Given the description of an element on the screen output the (x, y) to click on. 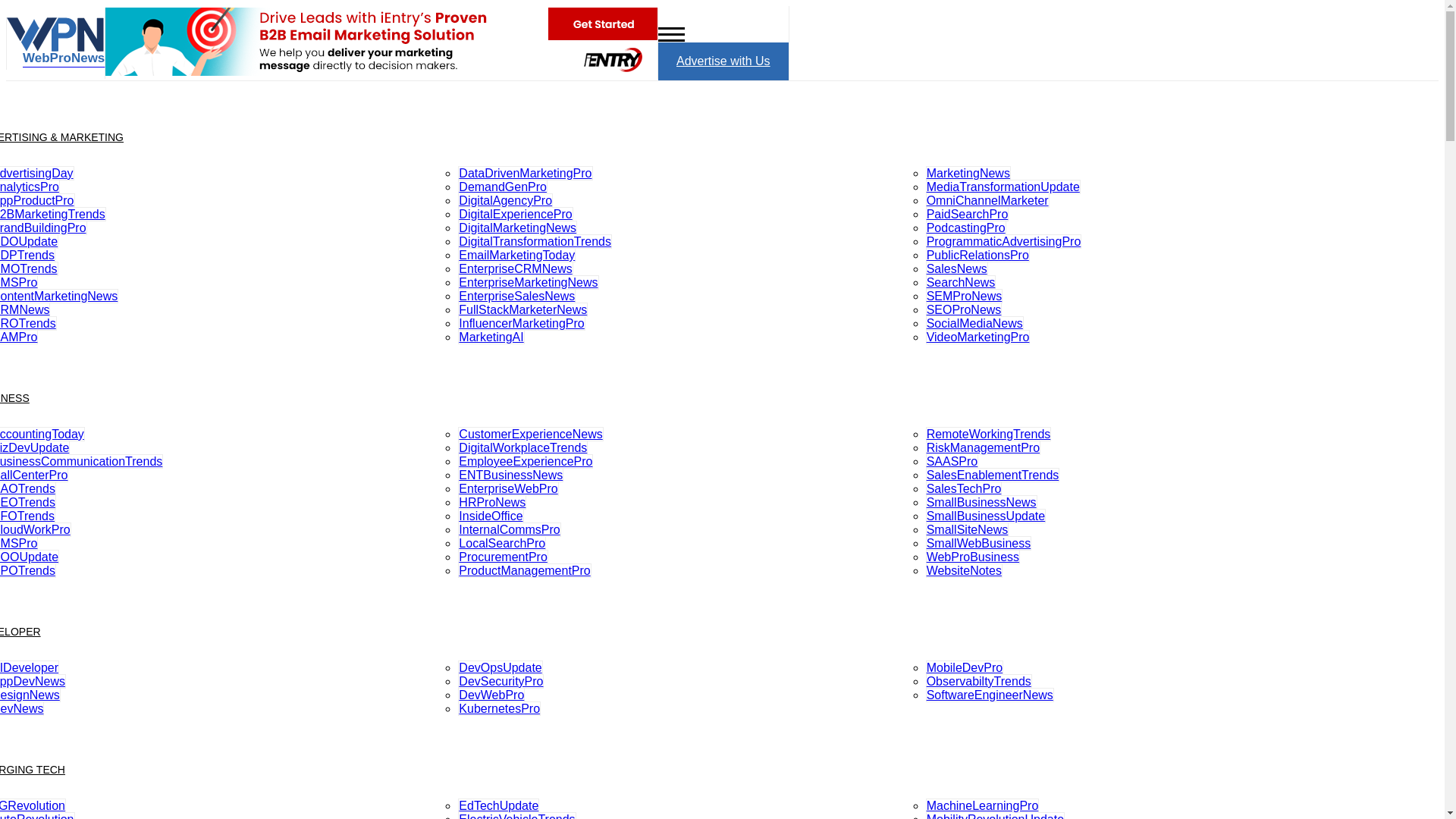
SearchNews (960, 282)
B2BMarketingTrends (53, 214)
PaidSearchPro (967, 214)
MarketingAI (491, 336)
MediaTransformationUpdate (1003, 186)
EmailMarketingToday (516, 255)
MarketingNews (968, 173)
WebProNews (55, 53)
CRMNews (24, 309)
DigitalAgencyPro (505, 200)
DigitalExperiencePro (515, 214)
AnalyticsPro (29, 186)
PublicRelationsPro (977, 255)
DataDrivenMarketingPro (525, 173)
DigitalMarketingNews (517, 227)
